Given the description of an element on the screen output the (x, y) to click on. 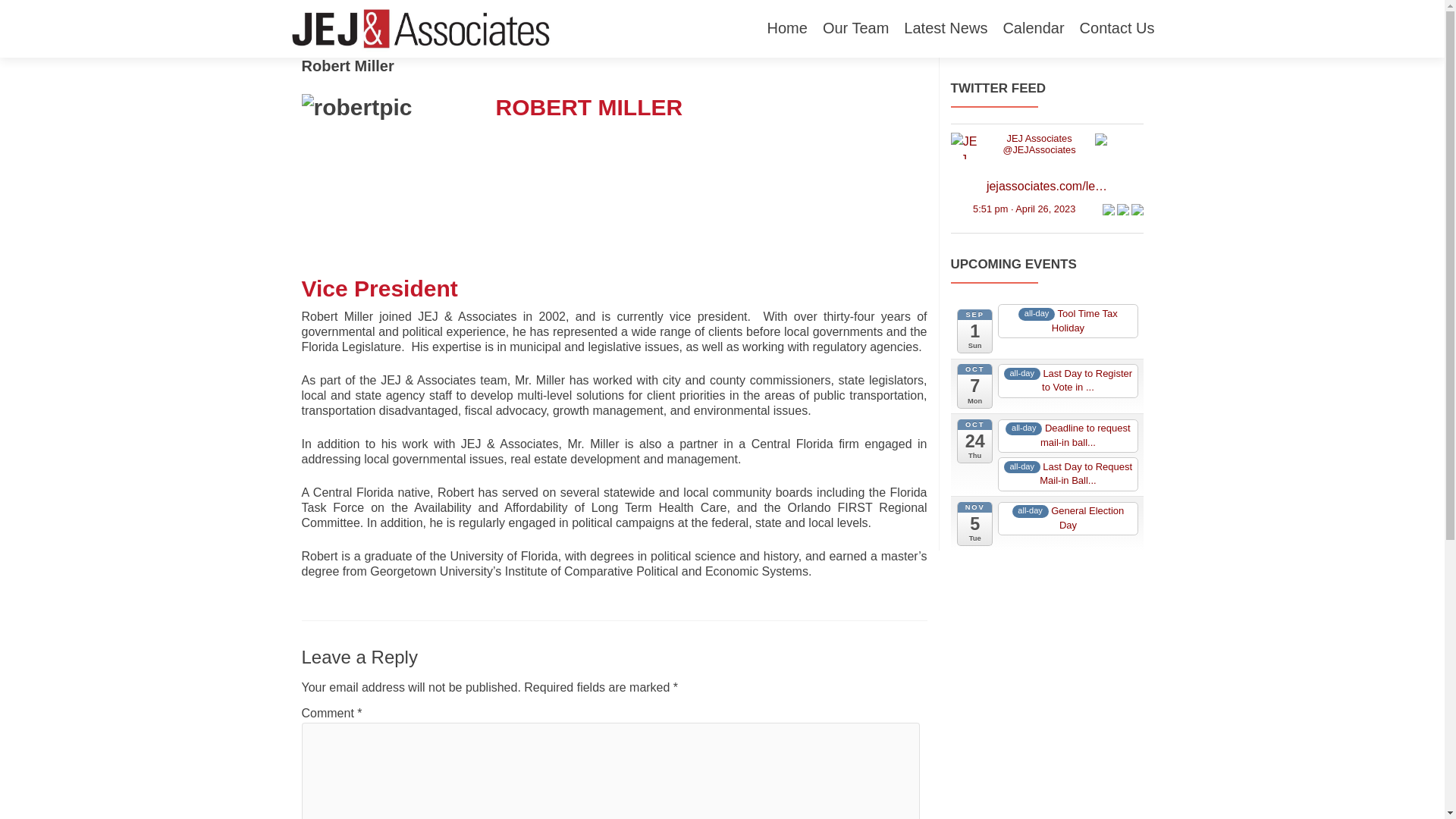
Calendar (1033, 28)
JEJ Associates (963, 144)
JEJ Associates (1039, 149)
Contact Us (1117, 28)
Our Team (855, 28)
favorite (1136, 208)
Latest News (945, 28)
reply (1107, 208)
JEJ Associates (1039, 138)
retweet (1122, 208)
